Given the description of an element on the screen output the (x, y) to click on. 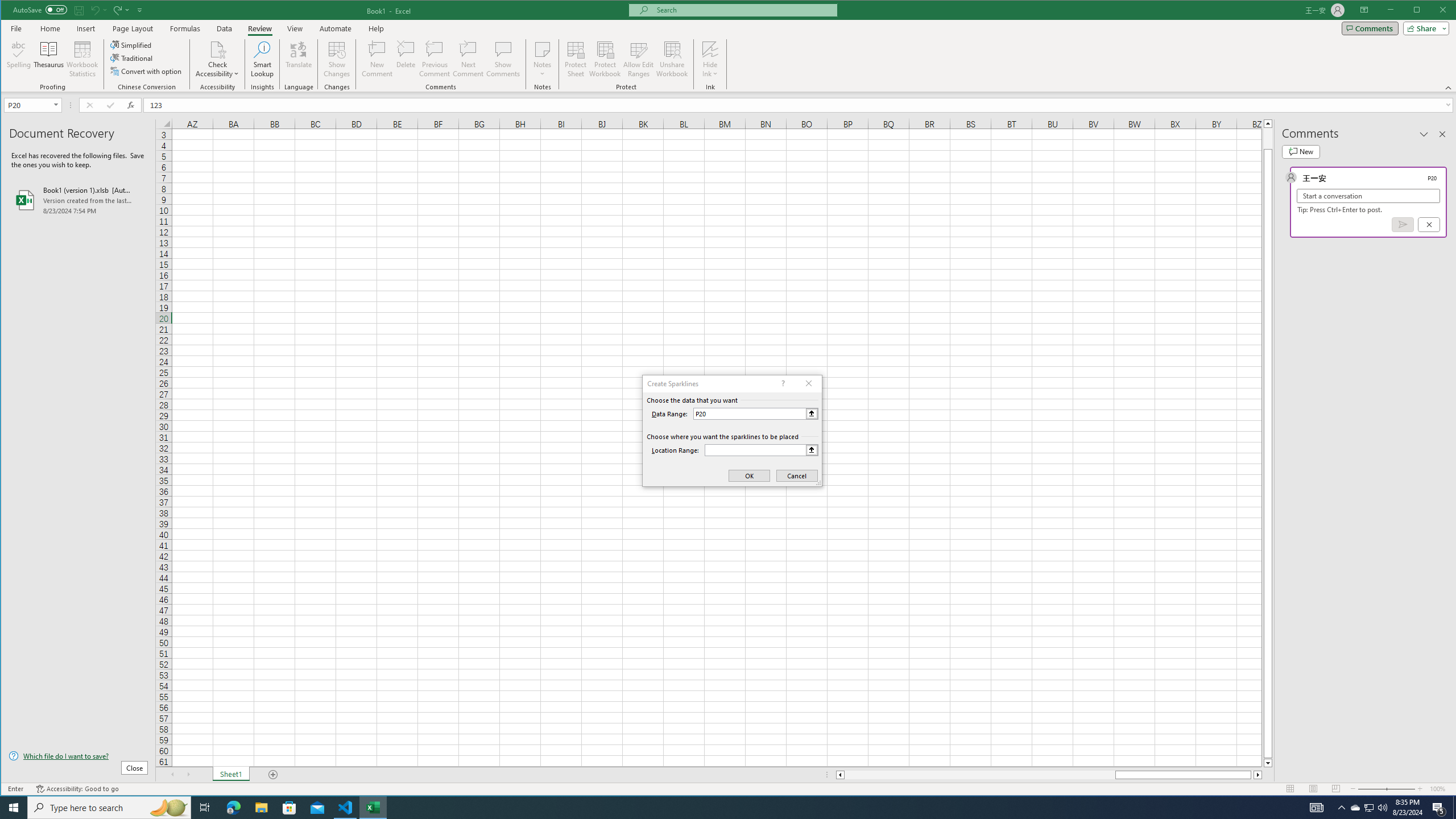
Translate (298, 59)
Notes (541, 59)
Post comment (Ctrl + Enter) (1402, 224)
Show Changes (335, 59)
Smart Lookup (261, 59)
